Given the description of an element on the screen output the (x, y) to click on. 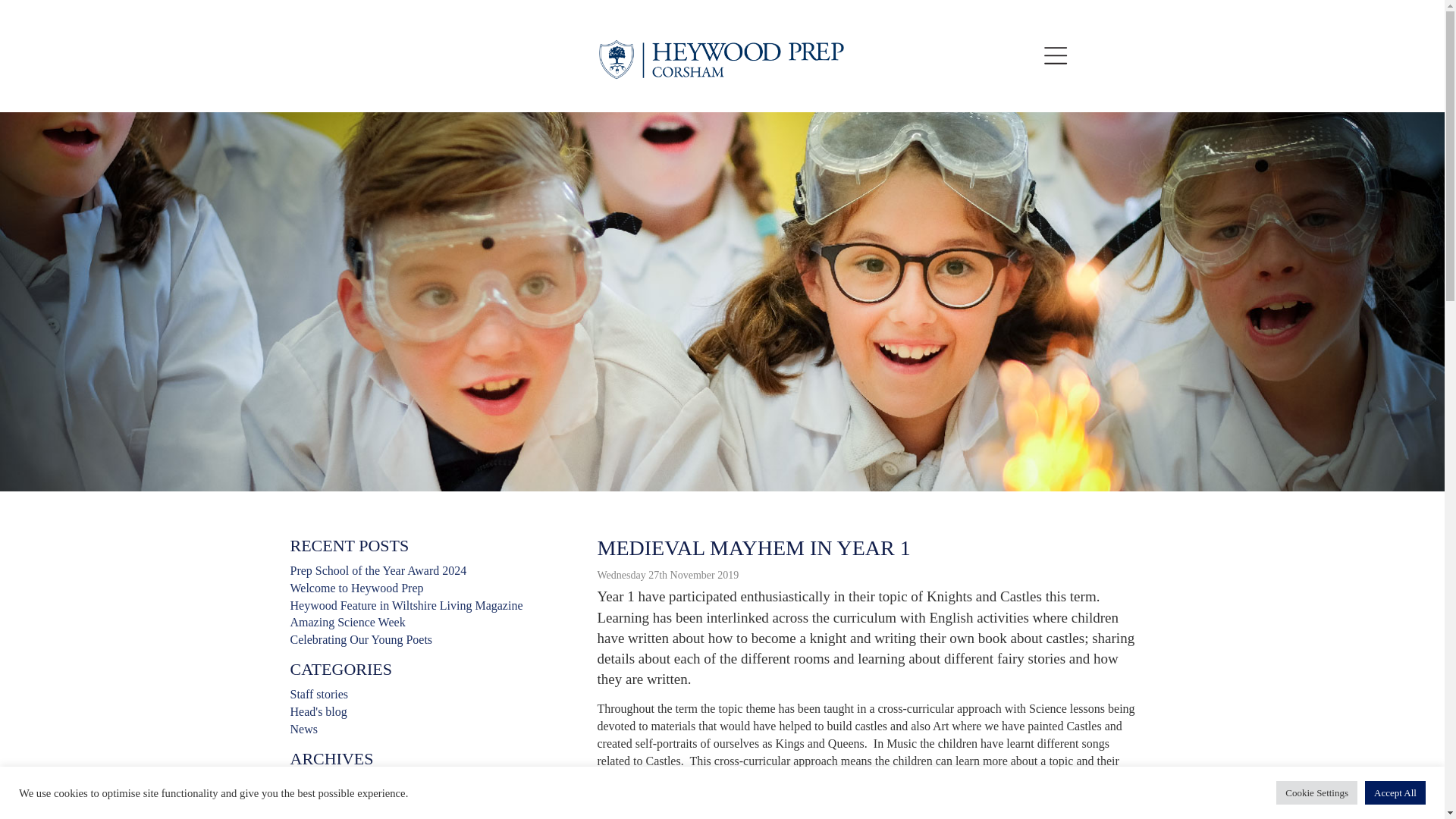
News (303, 728)
Celebrating Our Young Poets (360, 639)
May 2024 (314, 815)
June 2024 (314, 800)
Amazing Science Week (346, 621)
Heywood Feature in Wiltshire Living Magazine (405, 604)
Prep School of the Year Award 2024 (377, 570)
July 2024 (313, 783)
Staff stories (318, 694)
Welcome to Heywood Prep (356, 587)
